Given the description of an element on the screen output the (x, y) to click on. 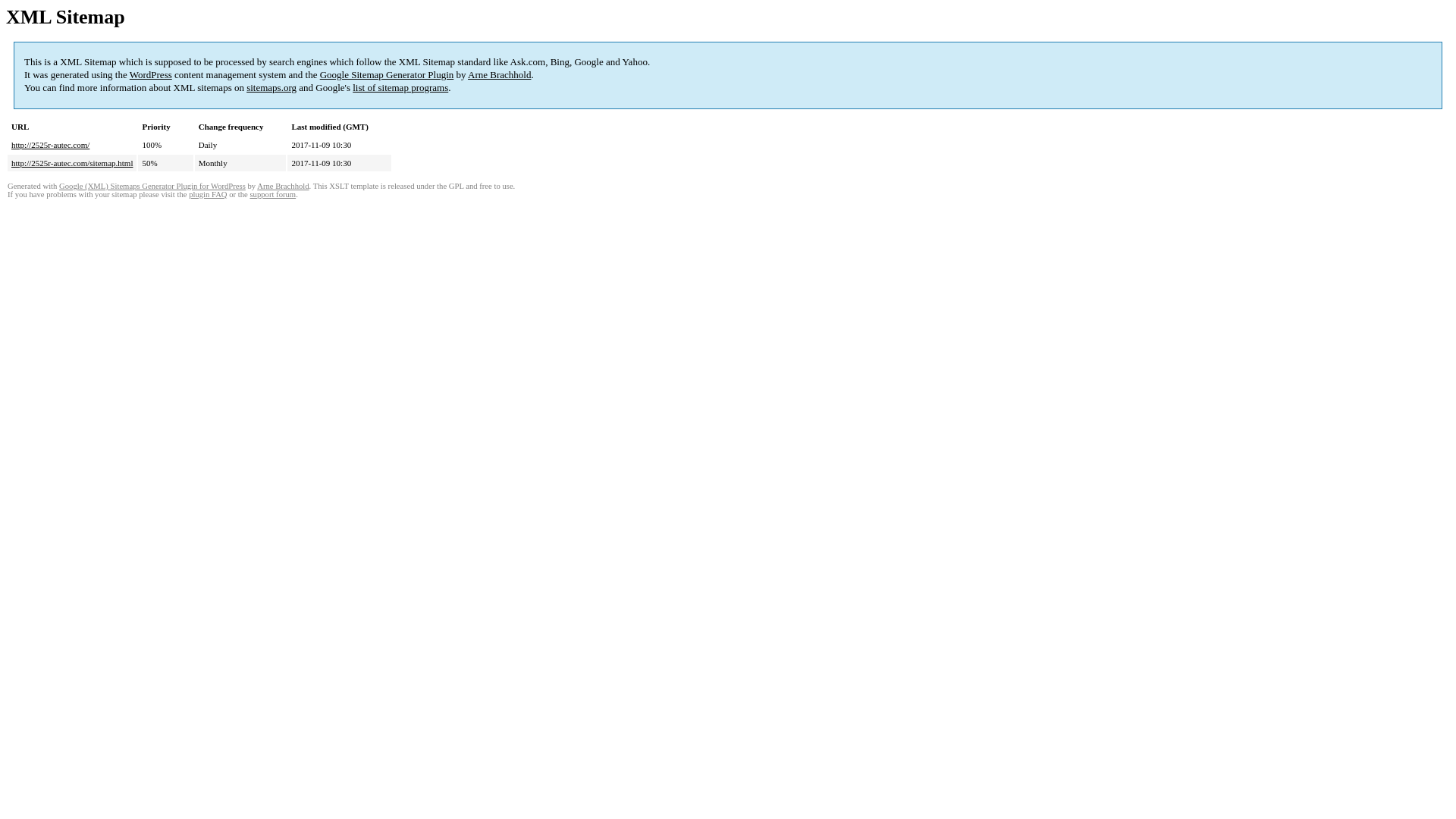
Google Sitemap Generator Plugin Element type: text (387, 74)
http://2525r-autec.com/sitemap.html Element type: text (71, 162)
list of sitemap programs Element type: text (400, 87)
http://2525r-autec.com/ Element type: text (50, 144)
Arne Brachhold Element type: text (282, 186)
sitemaps.org Element type: text (271, 87)
plugin FAQ Element type: text (207, 194)
Google (XML) Sitemaps Generator Plugin for WordPress Element type: text (152, 186)
Arne Brachhold Element type: text (498, 74)
WordPress Element type: text (150, 74)
support forum Element type: text (272, 194)
